Given the description of an element on the screen output the (x, y) to click on. 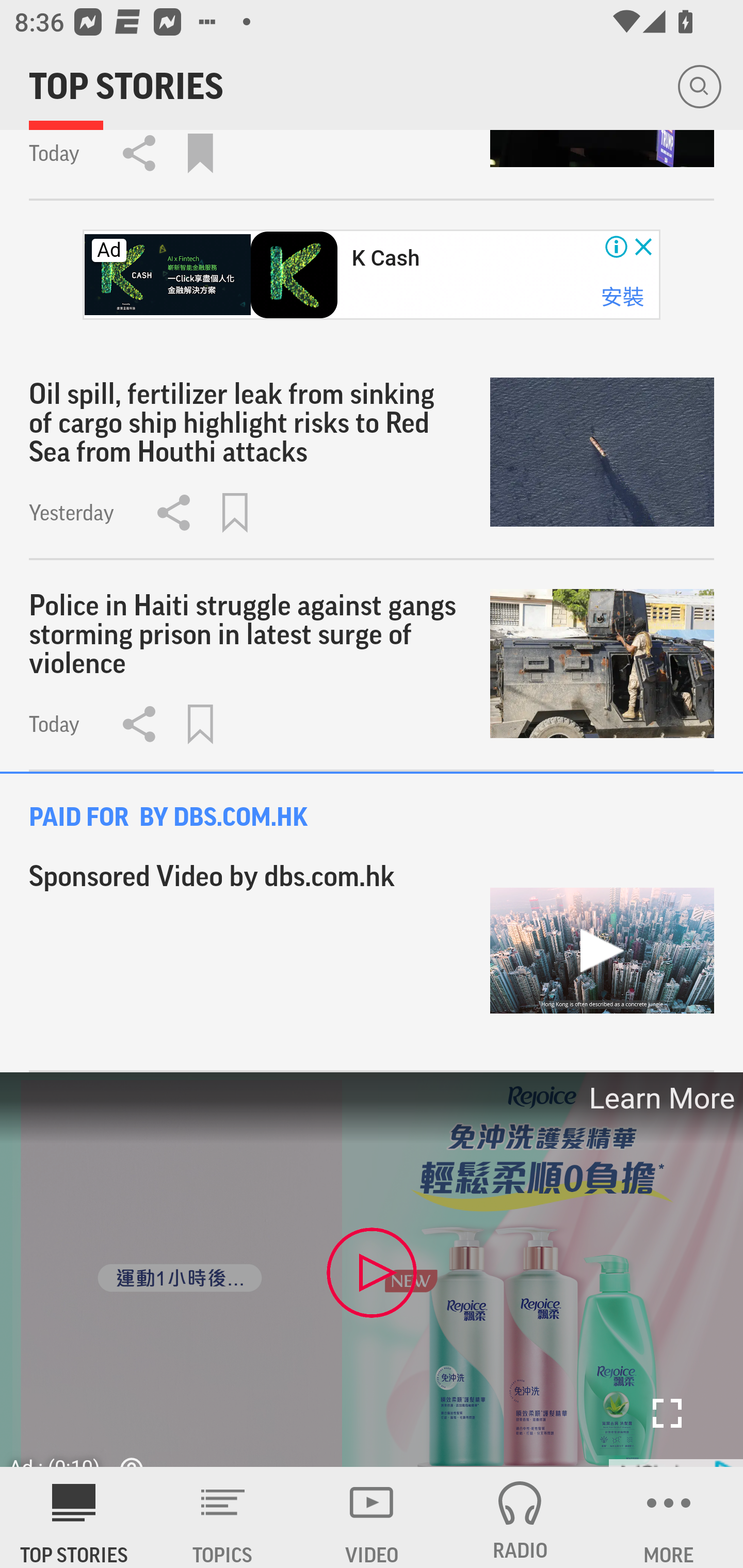
K Cash (384, 258)
安裝 (621, 296)
Learn More (660, 1098)
Play (371, 1272)
Fullscreen (666, 1413)
AP News TOP STORIES (74, 1517)
TOPICS (222, 1517)
VIDEO (371, 1517)
RADIO (519, 1517)
MORE (668, 1517)
